Given the description of an element on the screen output the (x, y) to click on. 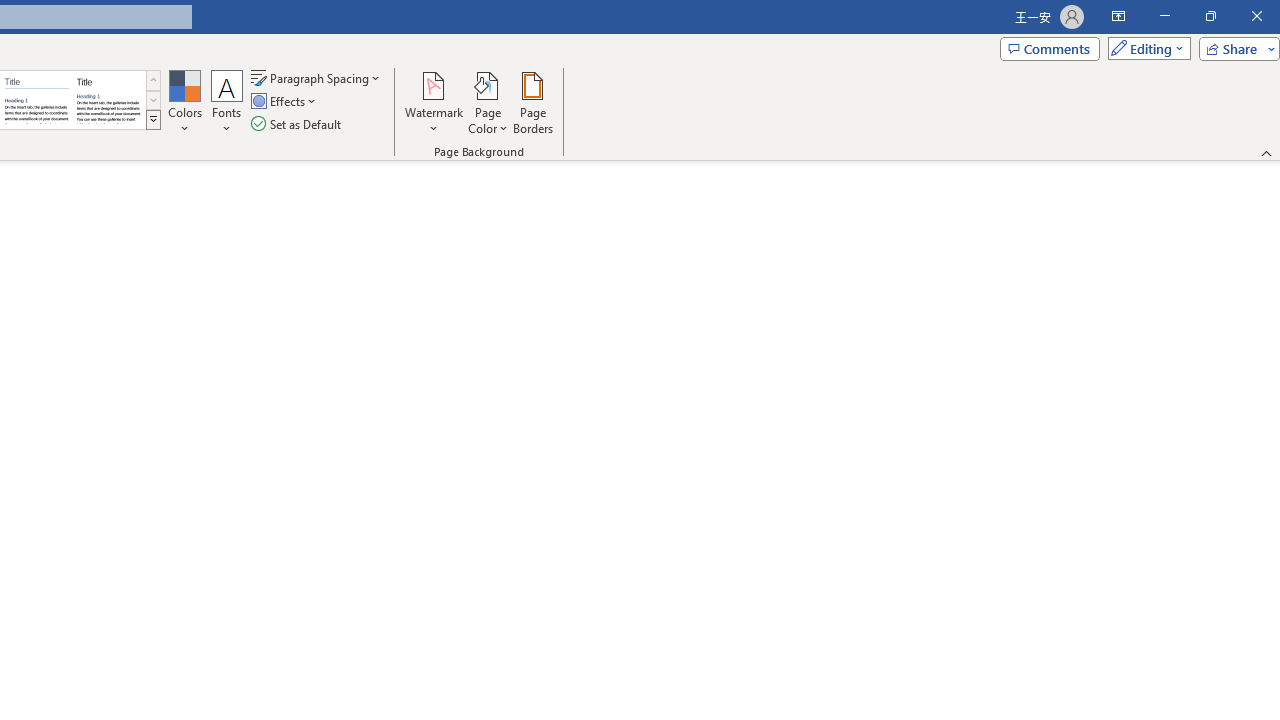
Watermark (434, 102)
Set as Default (298, 124)
Effects (285, 101)
Paragraph Spacing (317, 78)
Fonts (227, 102)
Page Color (487, 102)
Page Borders... (532, 102)
Word 2010 (36, 100)
Editing (1144, 47)
